Given the description of an element on the screen output the (x, y) to click on. 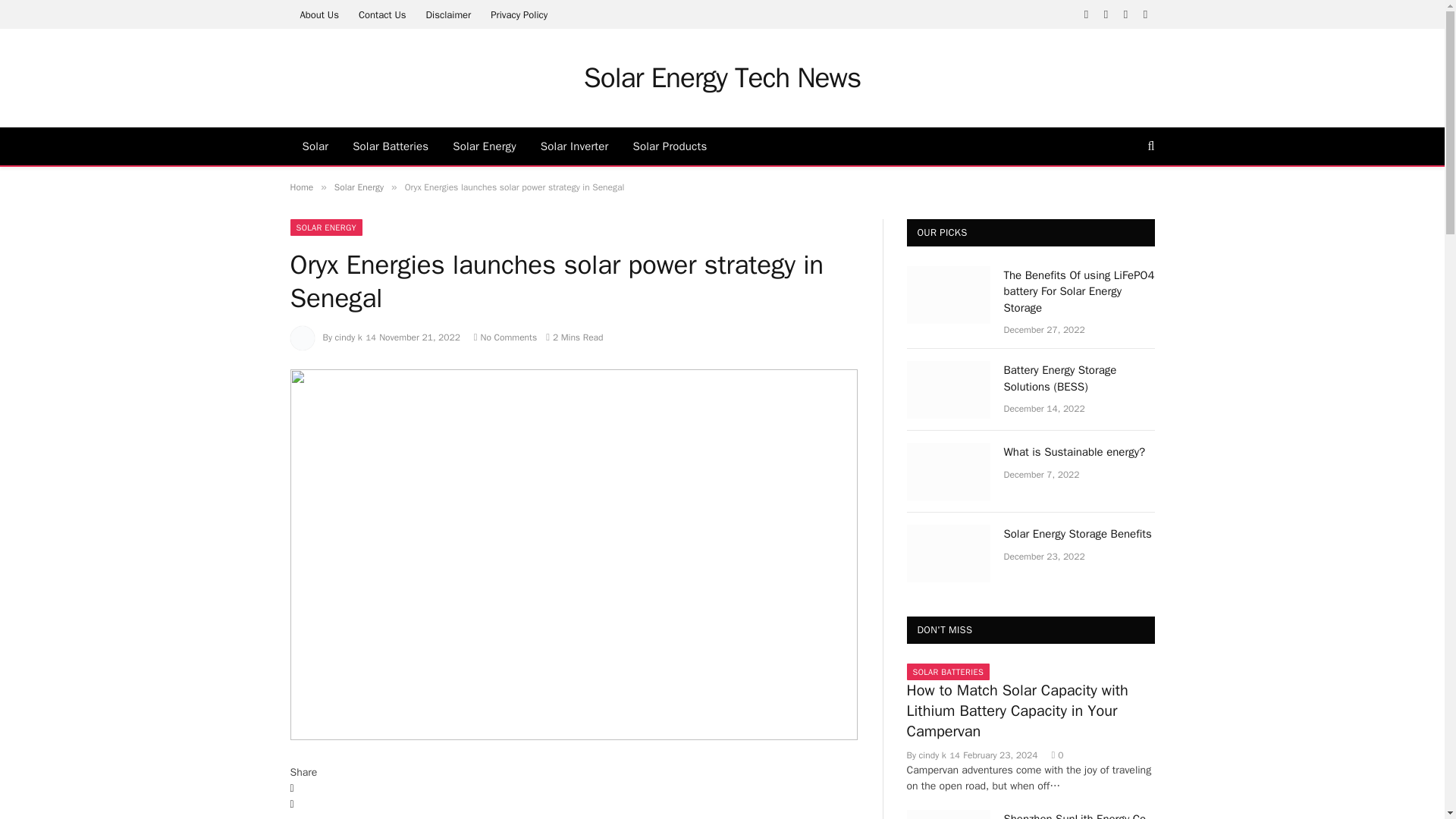
Solar Energy (484, 146)
Solar Batteries (390, 146)
About Us (318, 14)
cindy k (348, 337)
Posts by cindy k (348, 337)
Home (301, 186)
Solar Energy Tech News (721, 77)
Privacy Policy (518, 14)
Solar Products (670, 146)
Twitter (573, 805)
No Comments (505, 337)
SOLAR ENERGY (325, 227)
Solar Energy Tech News (721, 77)
Contact Us (382, 14)
Solar Inverter (574, 146)
